Given the description of an element on the screen output the (x, y) to click on. 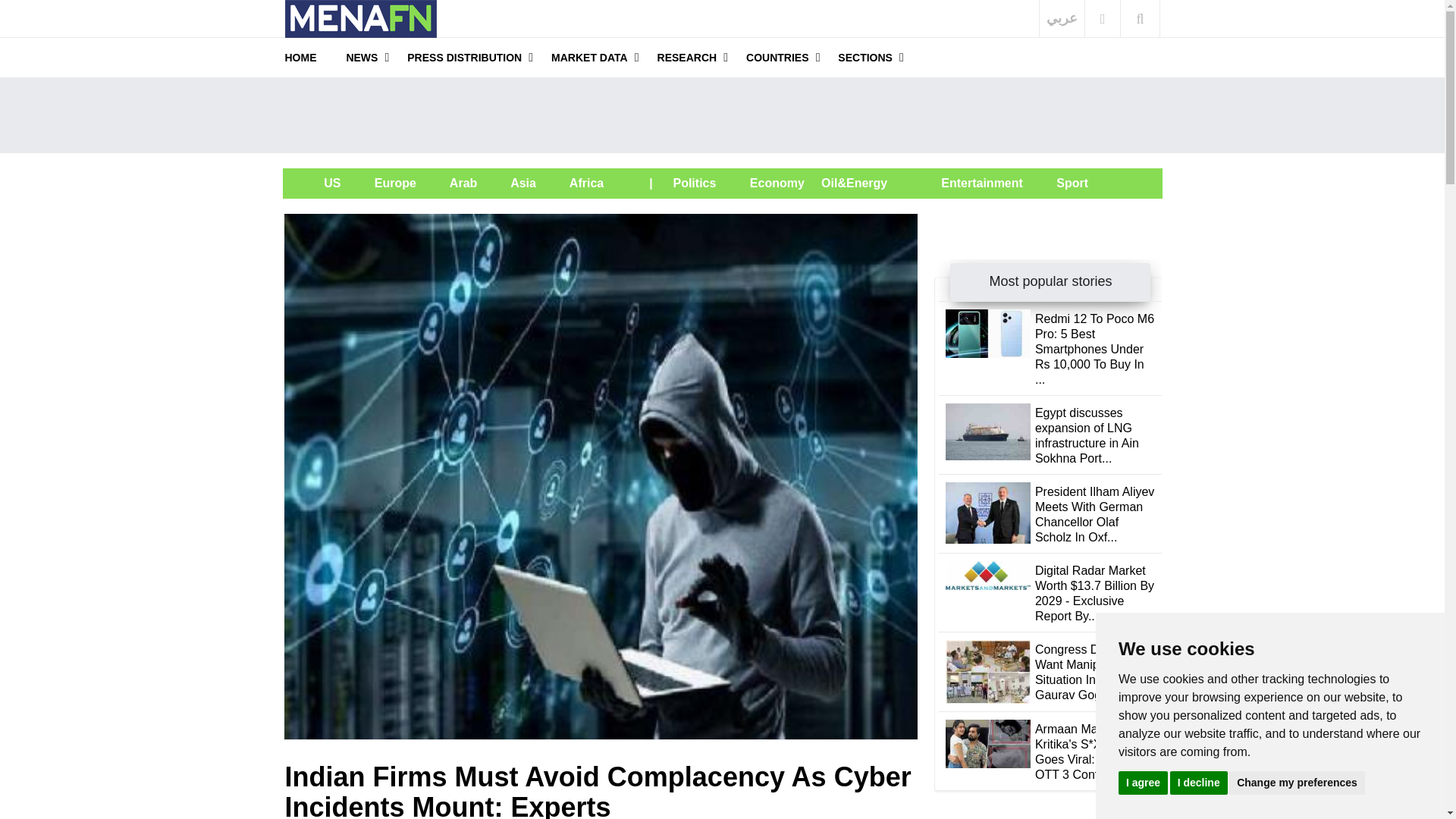
Advertisement (721, 115)
MARKET DATA (589, 56)
I decline (1198, 781)
PRESS DISTRIBUTION (464, 56)
I agree (1142, 781)
Change my preferences (1296, 781)
